Given the description of an element on the screen output the (x, y) to click on. 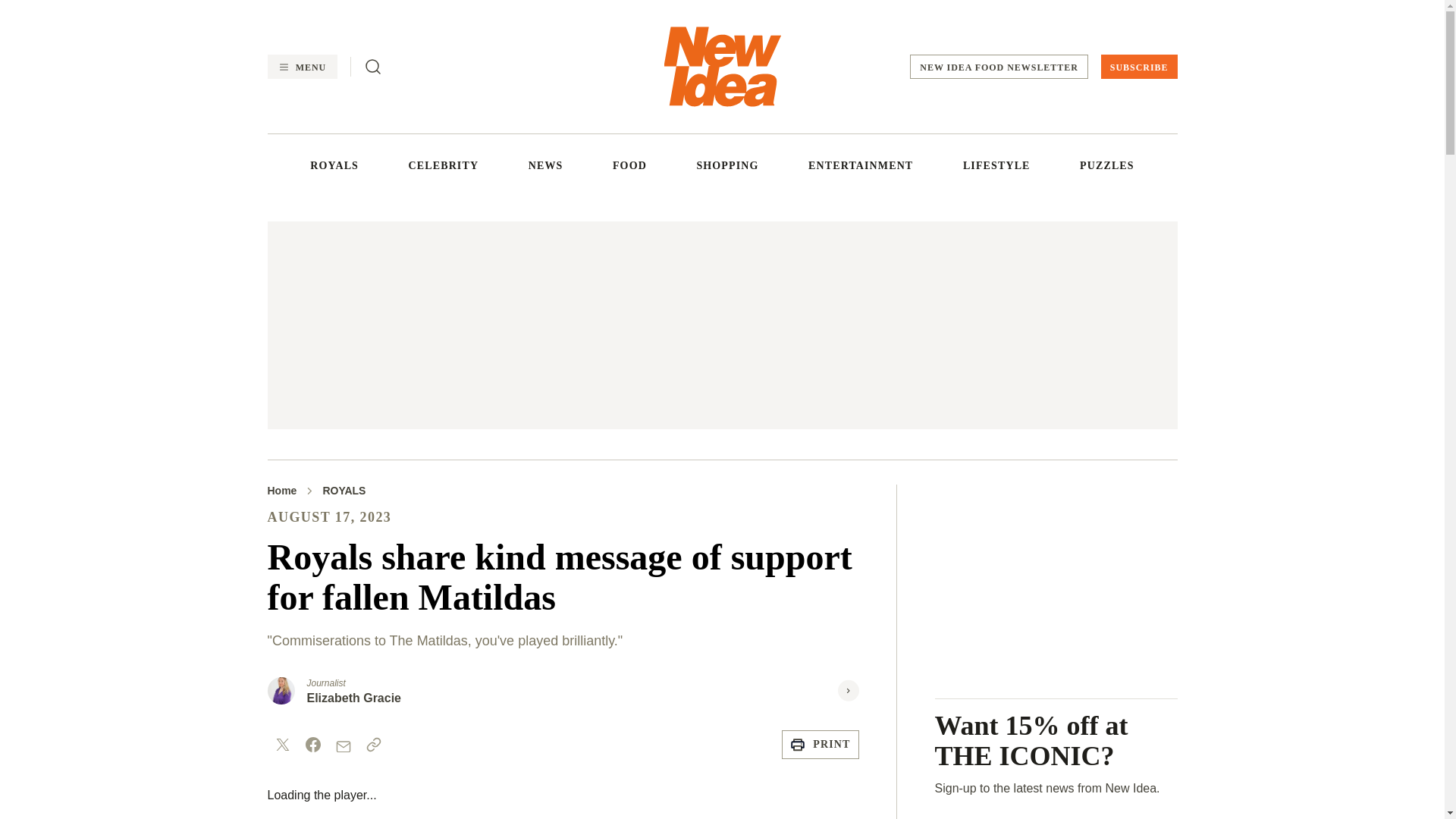
LIFESTYLE (996, 165)
ENTERTAINMENT (860, 165)
SUBSCRIBE (1138, 66)
NEWS (545, 165)
CELEBRITY (444, 165)
MENU (301, 66)
SHOPPING (726, 165)
NEW IDEA FOOD NEWSLETTER (998, 66)
PUZZLES (1107, 165)
FOOD (629, 165)
